Given the description of an element on the screen output the (x, y) to click on. 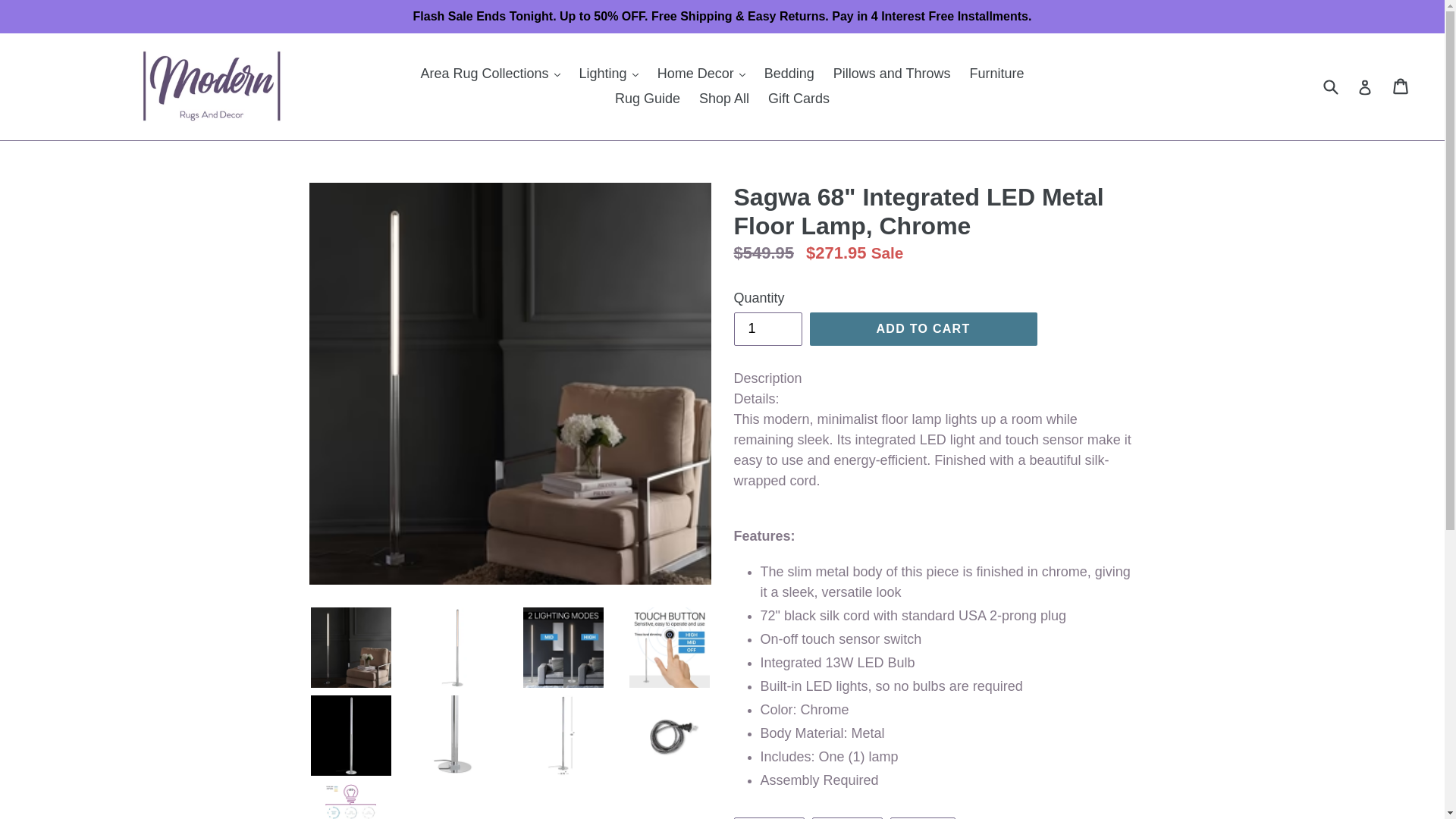
Tweet on Twitter (847, 818)
Pin on Pinterest (922, 818)
Share on Facebook (769, 818)
1 (767, 328)
